Given the description of an element on the screen output the (x, y) to click on. 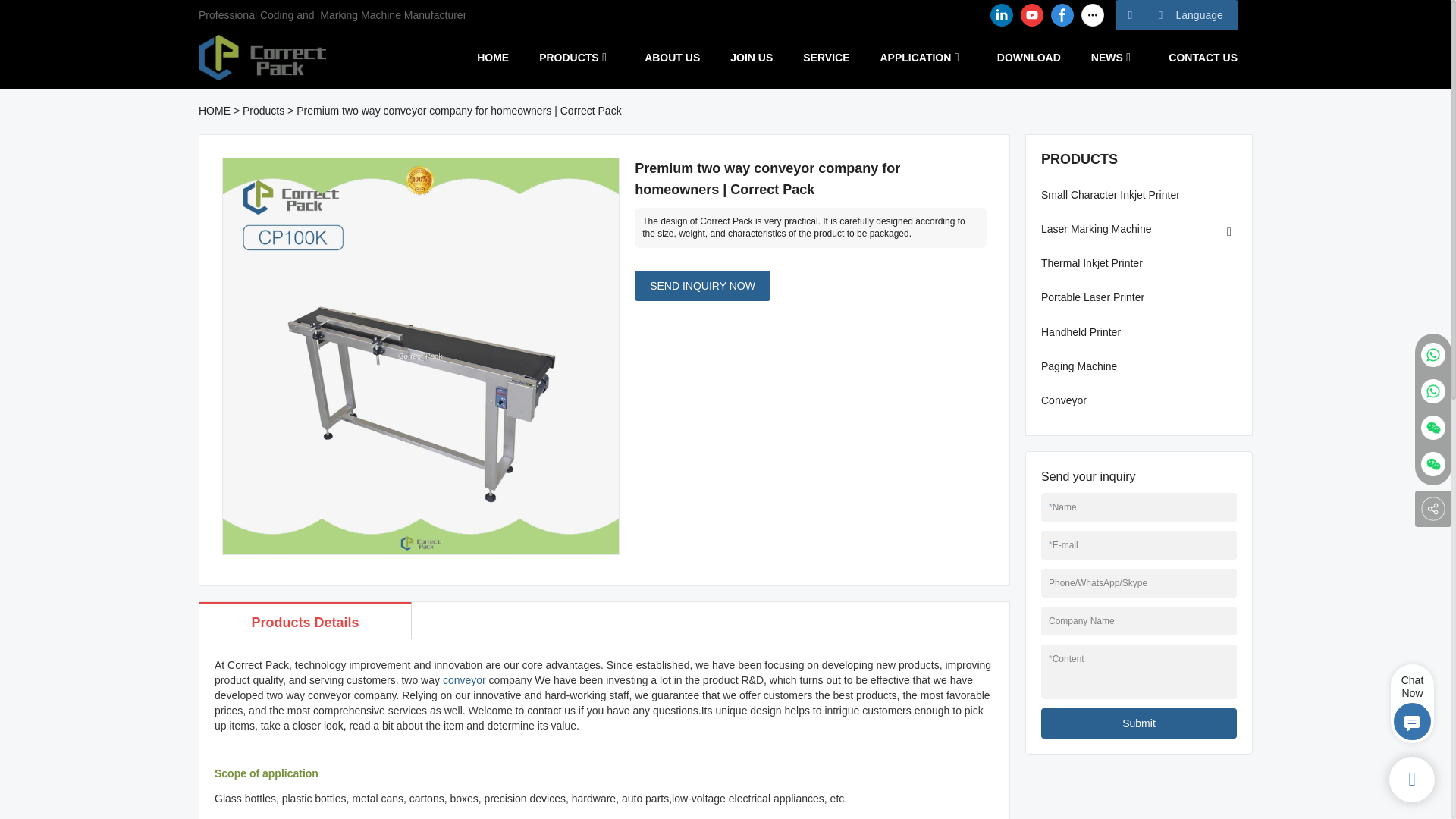
conveyor (464, 680)
APPLICATION (914, 57)
DOWNLOAD (1029, 57)
ABOUT US (672, 57)
HOME (492, 57)
linkedin (1001, 15)
SERVICE (825, 57)
facebook (1061, 15)
youtube (1031, 15)
JOIN US (751, 57)
PRODUCTS (568, 57)
